Given the description of an element on the screen output the (x, y) to click on. 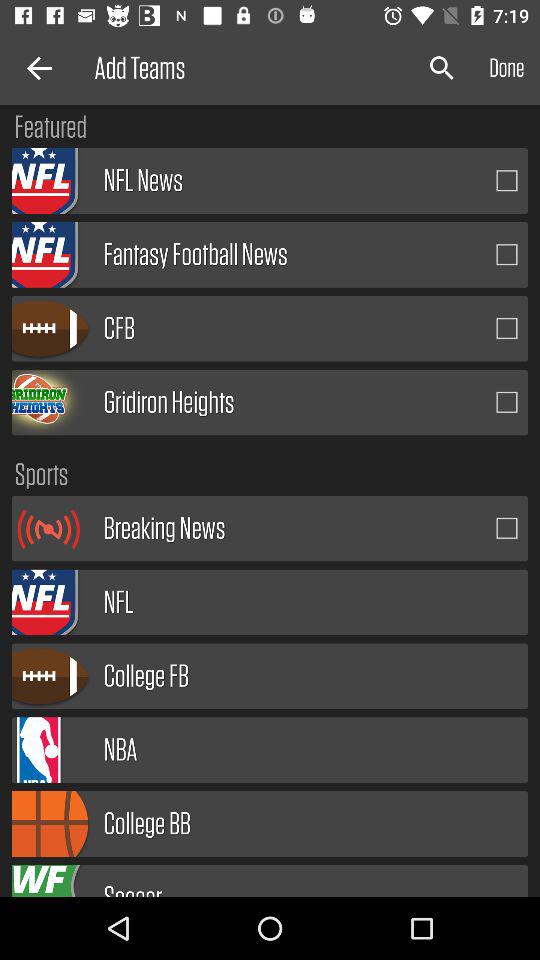
launch icon to the left of the add teams (36, 68)
